Given the description of an element on the screen output the (x, y) to click on. 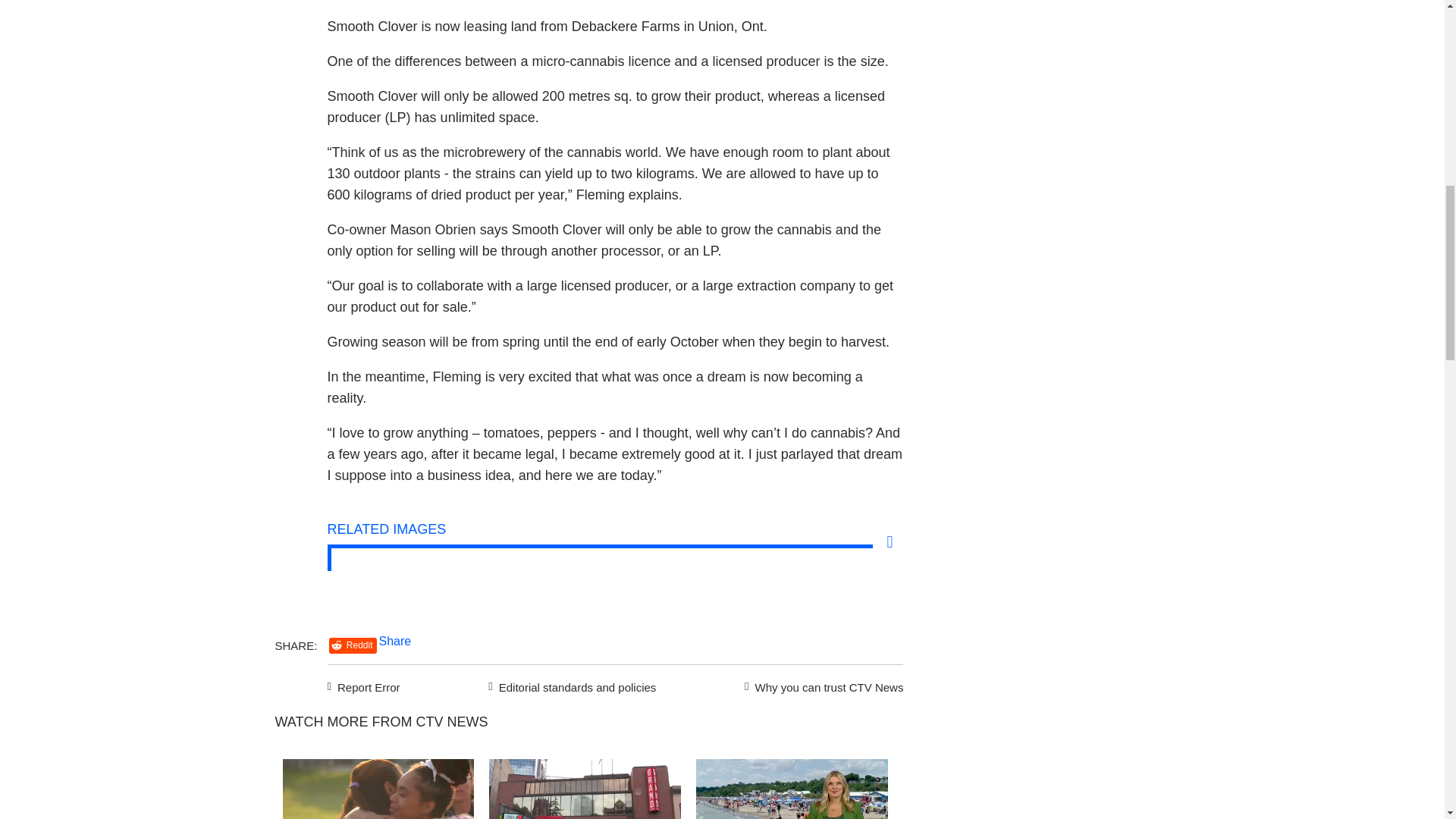
Why you can trust CTV News (820, 685)
081424-WEB-WX-STILL (791, 789)
THEATRE (585, 789)
false (378, 789)
081424-VIGIL- (378, 789)
false (791, 789)
Reddit (353, 645)
Editorial standards and policies (569, 685)
false (585, 789)
Share (395, 640)
